Given the description of an element on the screen output the (x, y) to click on. 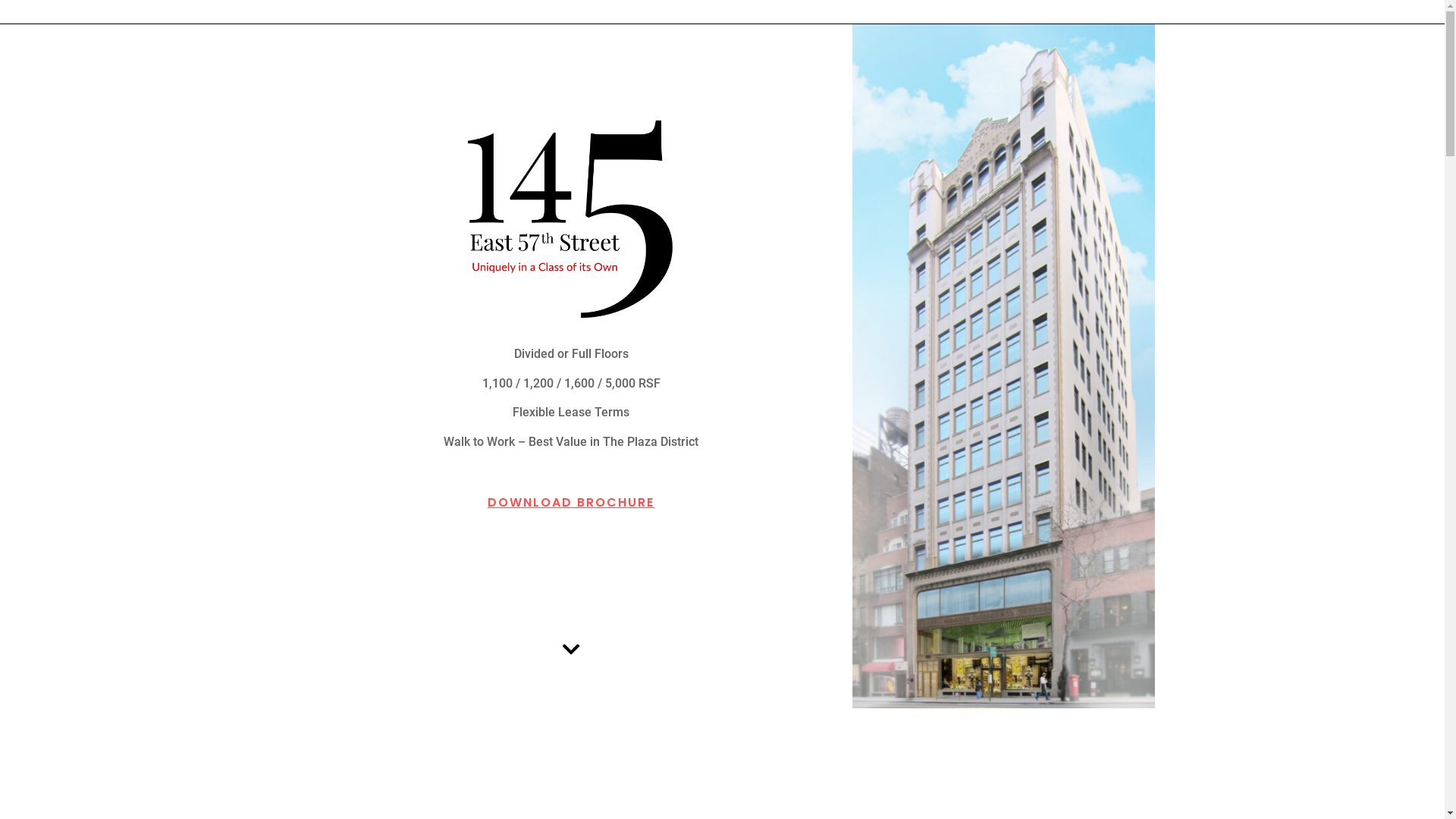
DOWNLOAD BROCHURE Element type: text (570, 494)
